Given the description of an element on the screen output the (x, y) to click on. 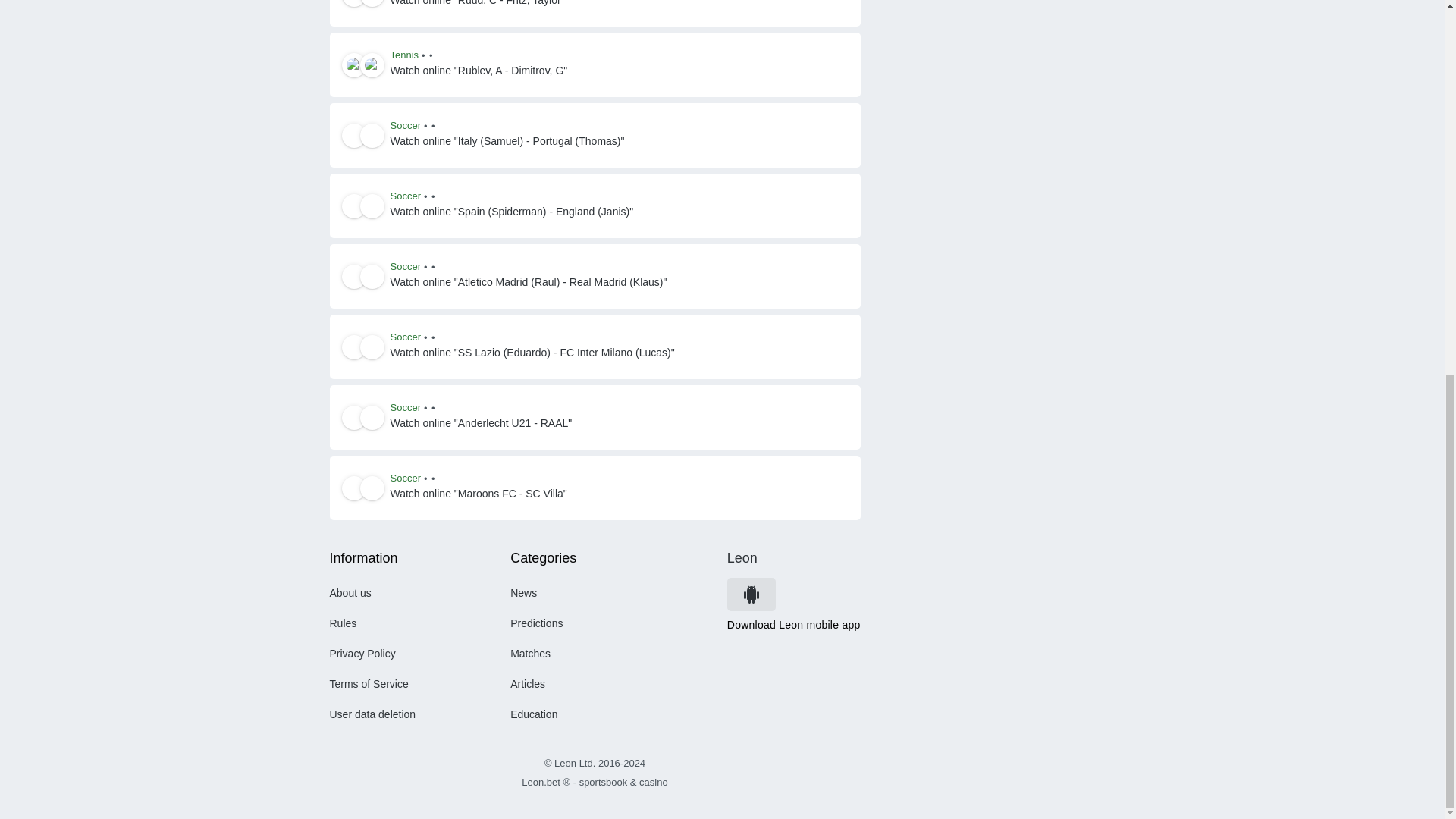
Watch online "Rublev, A - Dimitrov, G" (478, 70)
Tennis (404, 55)
Watch online "Ruud, C - Fritz, Taylor" (477, 4)
Soccer (405, 125)
